Given the description of an element on the screen output the (x, y) to click on. 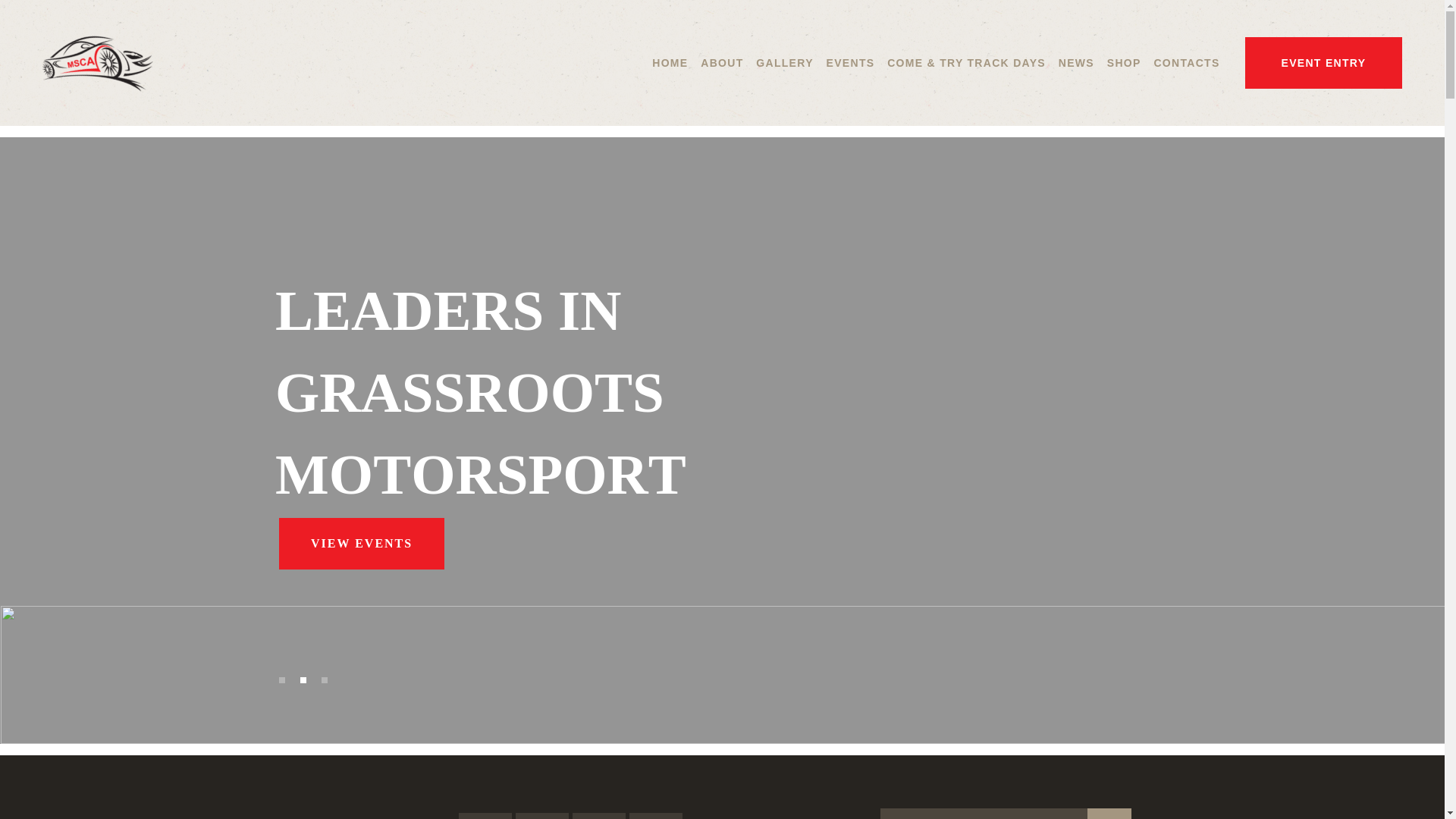
HOME Element type: text (669, 63)
COME & TRY TRACK DAYS Element type: text (966, 63)
ABOUT Element type: text (721, 63)
CONTACTS Element type: text (1186, 63)
EVENT ENTRY Element type: text (1323, 63)
SHOP Element type: text (1124, 63)
NEWS Element type: text (1076, 63)
VIEW EVENTS Element type: text (361, 543)
EVENTS Element type: text (850, 63)
GALLERY Element type: text (784, 63)
